Given the description of an element on the screen output the (x, y) to click on. 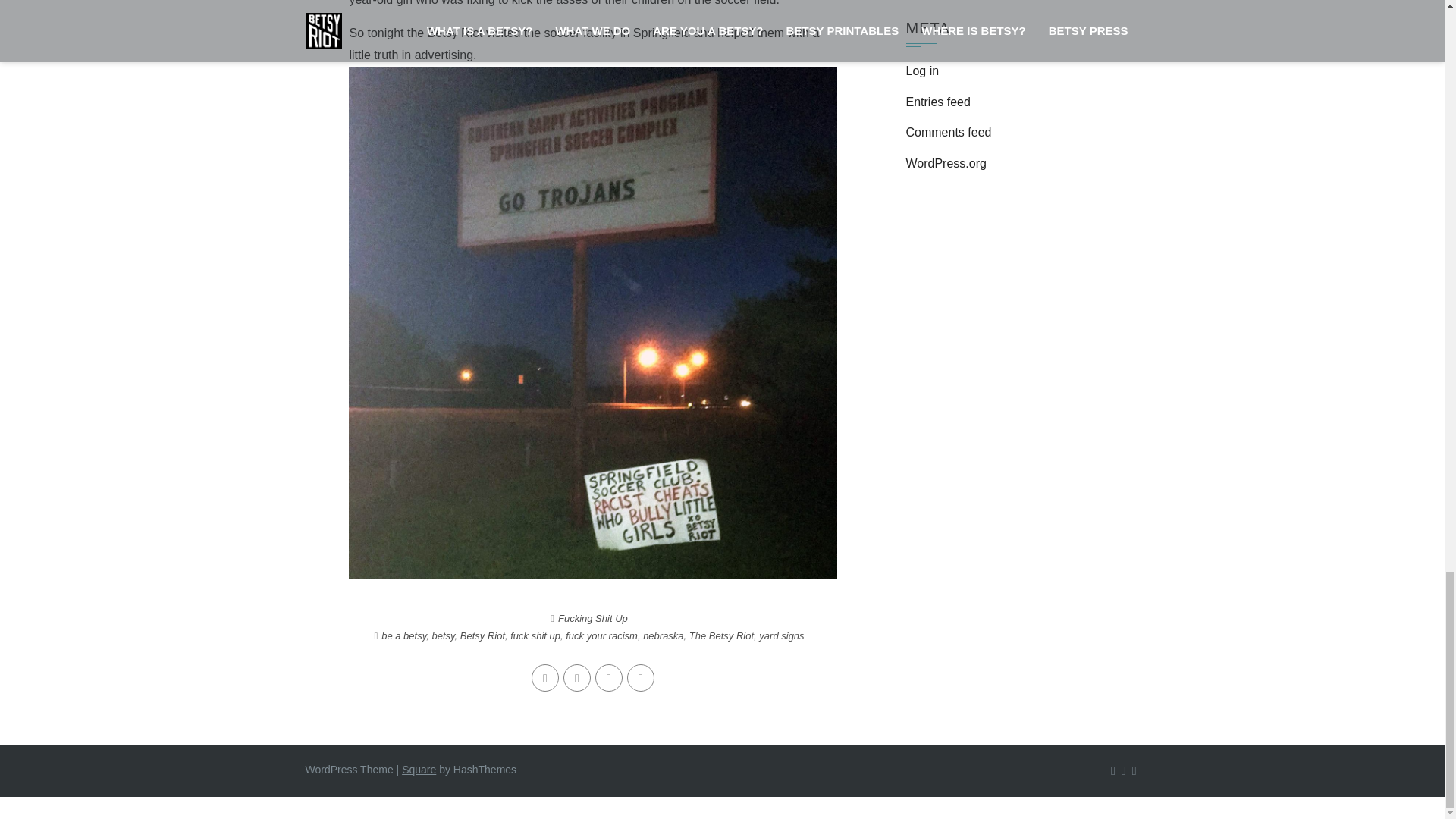
be a betsy (403, 635)
betsy (442, 635)
Fucking Shit Up (592, 618)
